Given the description of an element on the screen output the (x, y) to click on. 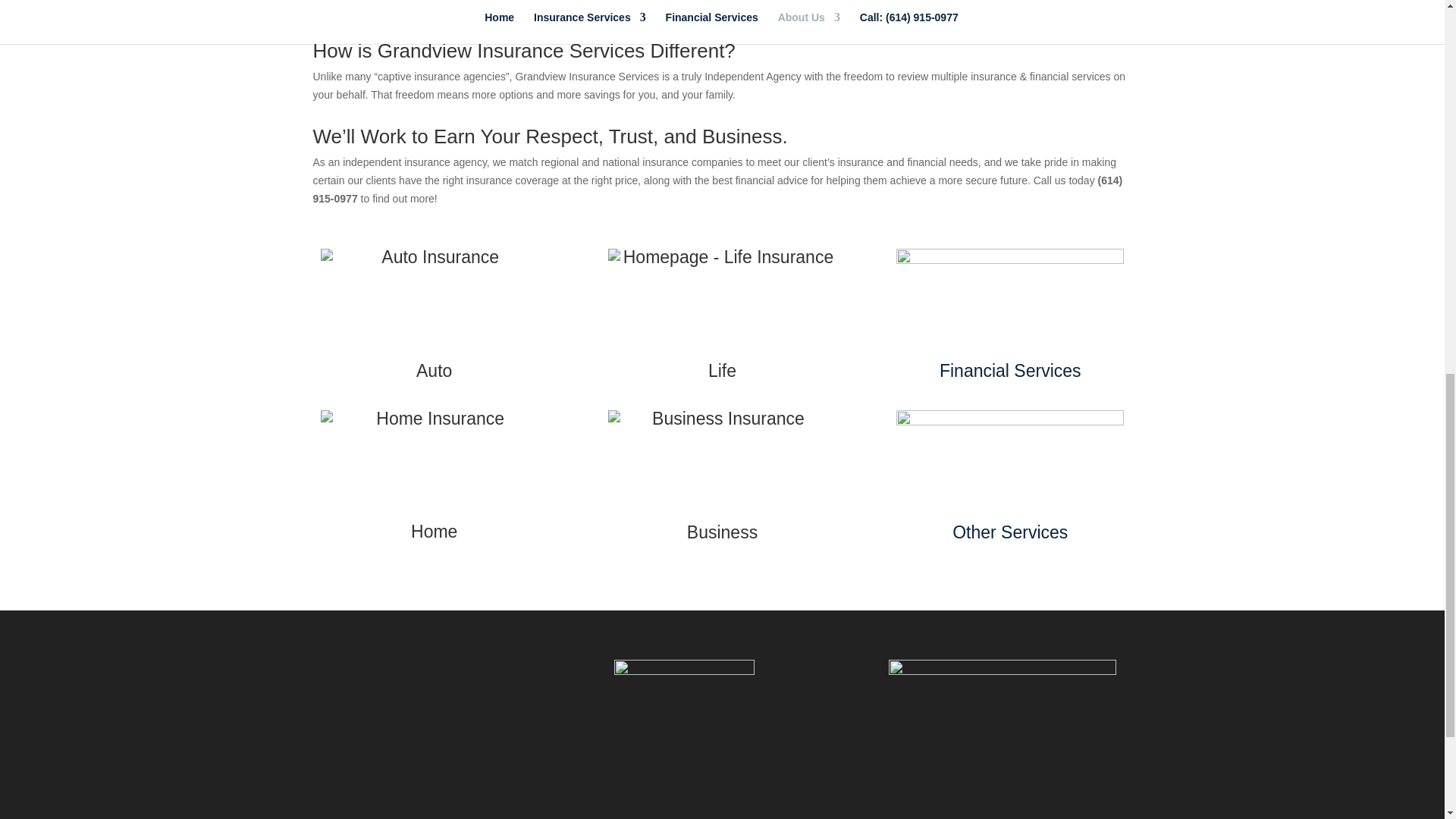
Life (721, 370)
Home (433, 531)
Auto (433, 370)
Financial Services (1010, 370)
Life Insurance (721, 370)
Home Insurance (433, 531)
Other Services (1009, 532)
Business (722, 532)
Auto Insurance (433, 370)
